Given the description of an element on the screen output the (x, y) to click on. 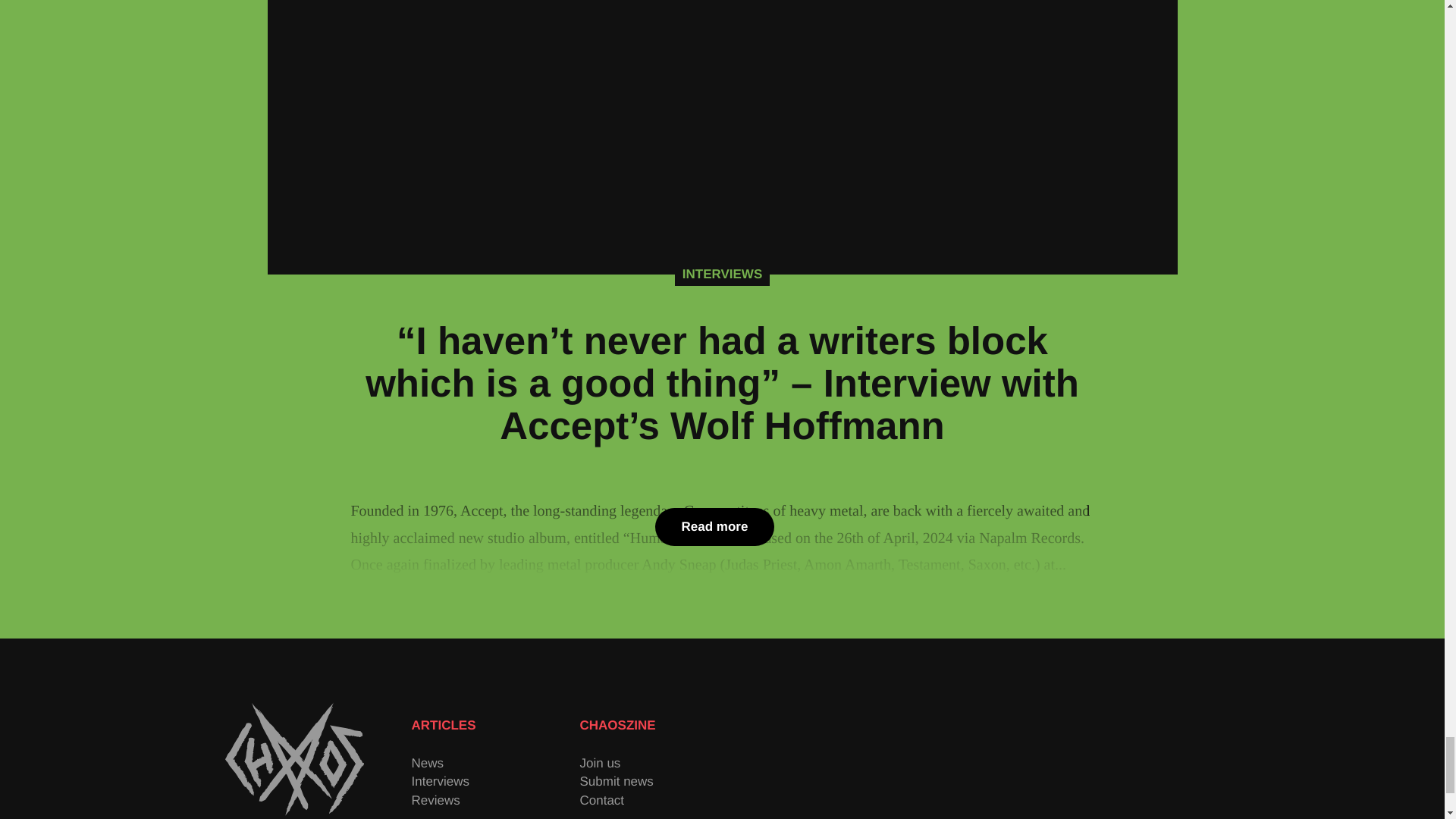
INTERVIEWS (722, 273)
